Given the description of an element on the screen output the (x, y) to click on. 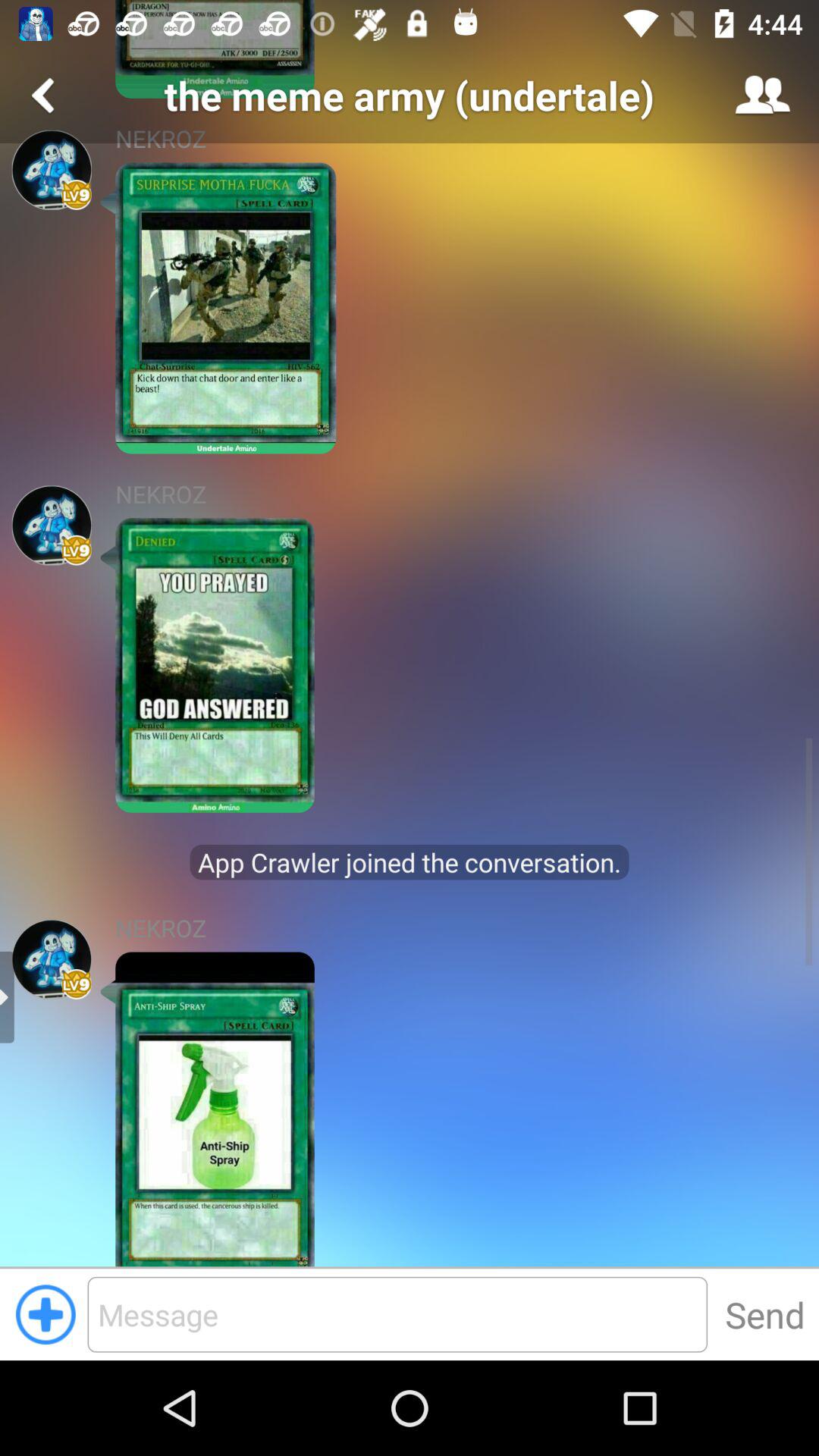
menu page (45, 95)
